Given the description of an element on the screen output the (x, y) to click on. 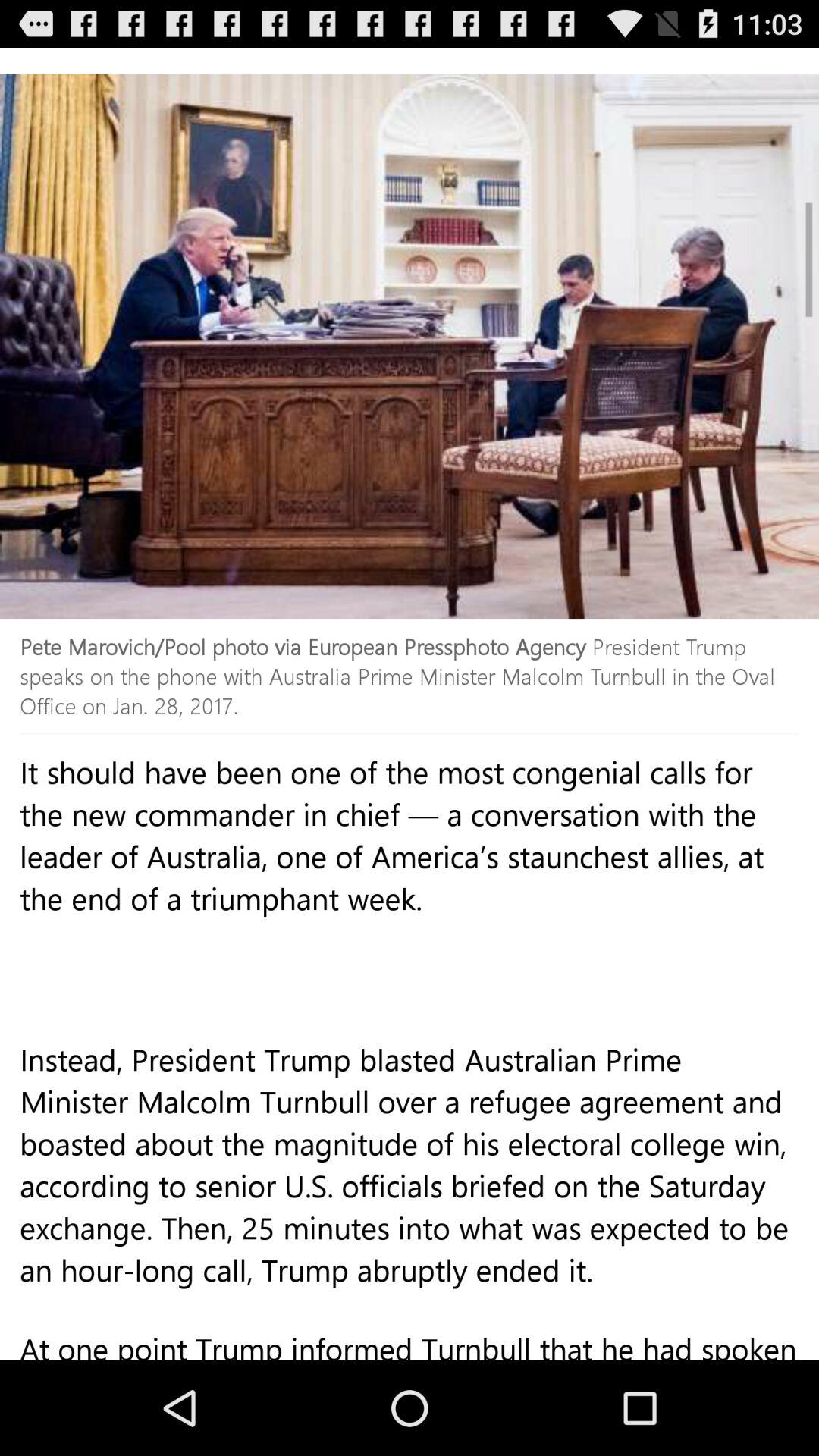
turn on the it should have item (409, 908)
